Given the description of an element on the screen output the (x, y) to click on. 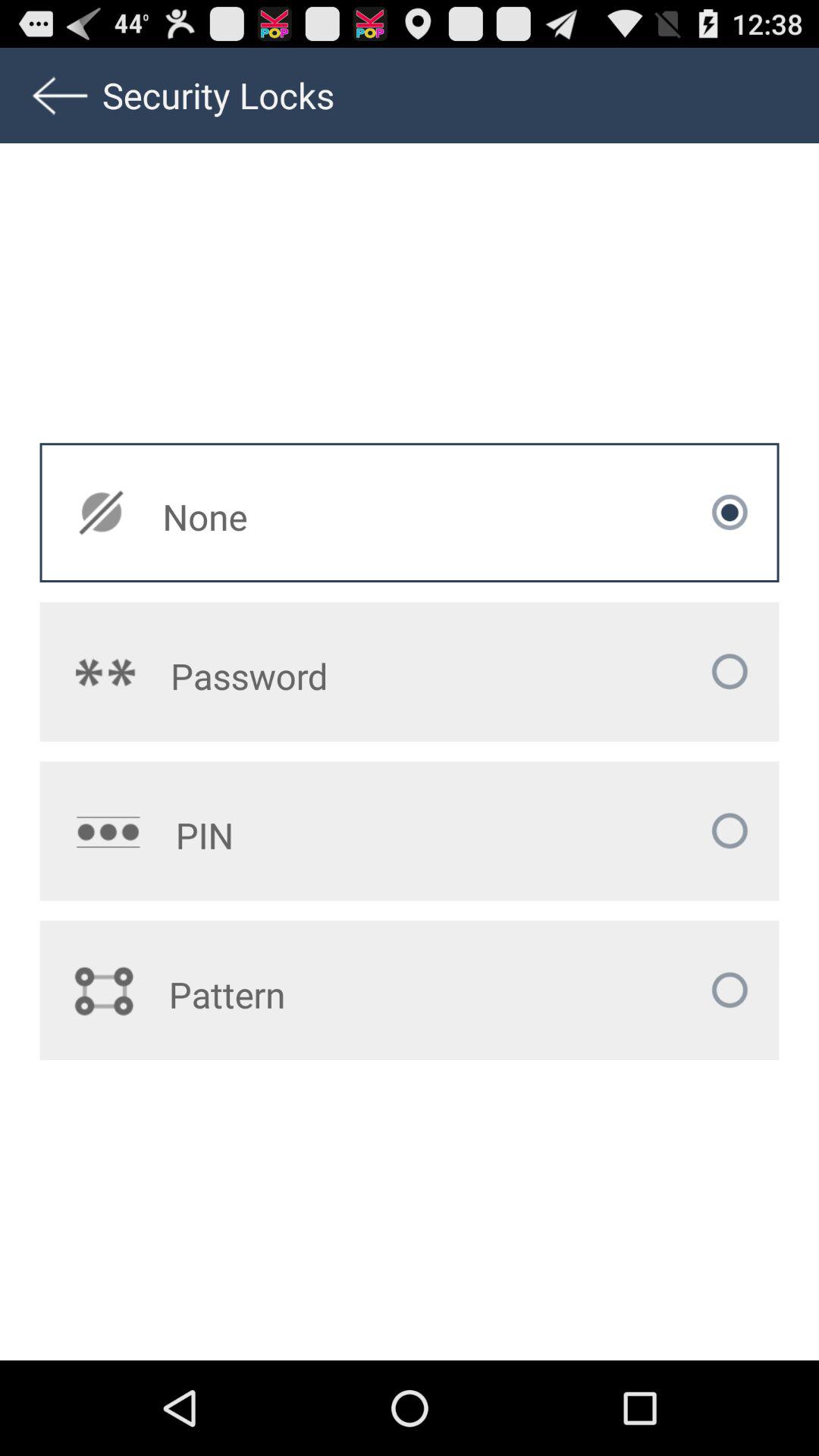
turn off the item above the pin (319, 675)
